Given the description of an element on the screen output the (x, y) to click on. 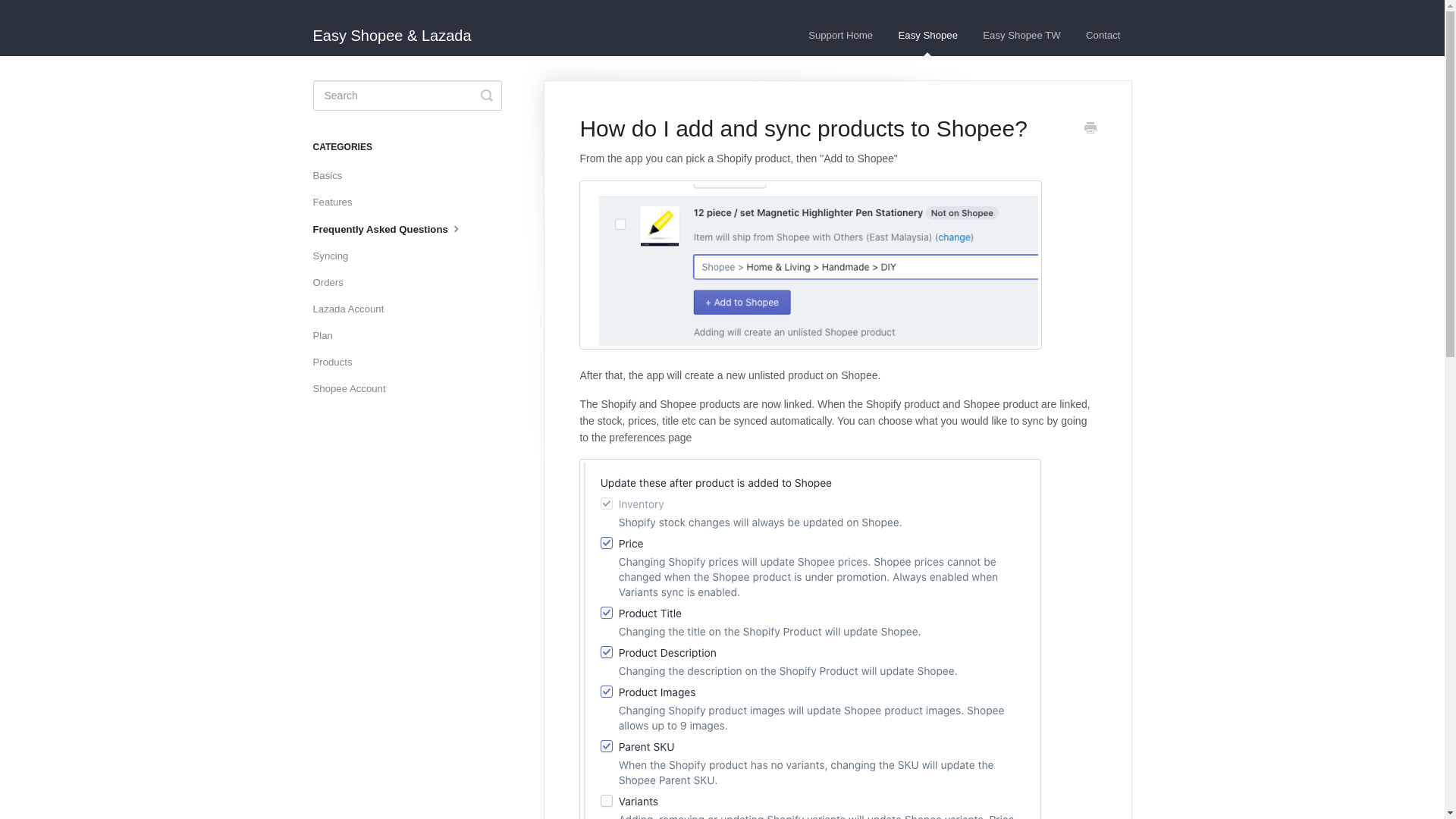
Syncing (336, 256)
Shopee Account (354, 388)
Easy Shopee (927, 35)
Plan (328, 335)
search-query (406, 95)
Lazada Account (353, 309)
Products (337, 362)
Basics (333, 175)
Frequently Asked Questions (394, 229)
Easy Shopee TW (1021, 35)
Support Home (839, 35)
Features (337, 202)
Orders (333, 282)
Contact (1102, 35)
